Given the description of an element on the screen output the (x, y) to click on. 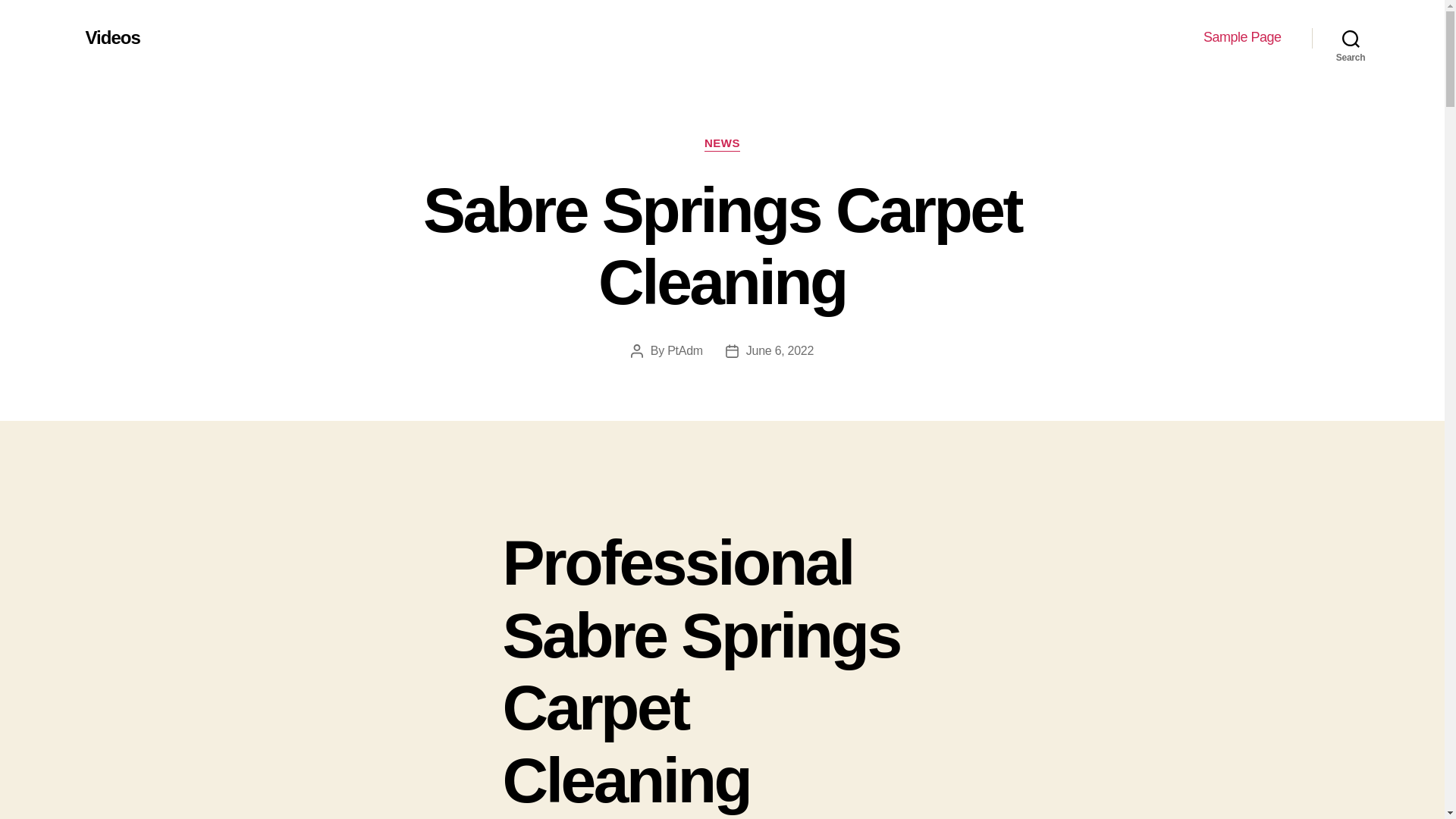
NEWS (721, 143)
June 6, 2022 (779, 350)
Videos (111, 37)
PtAdm (684, 350)
Sample Page (1242, 37)
Search (1350, 37)
